Given the description of an element on the screen output the (x, y) to click on. 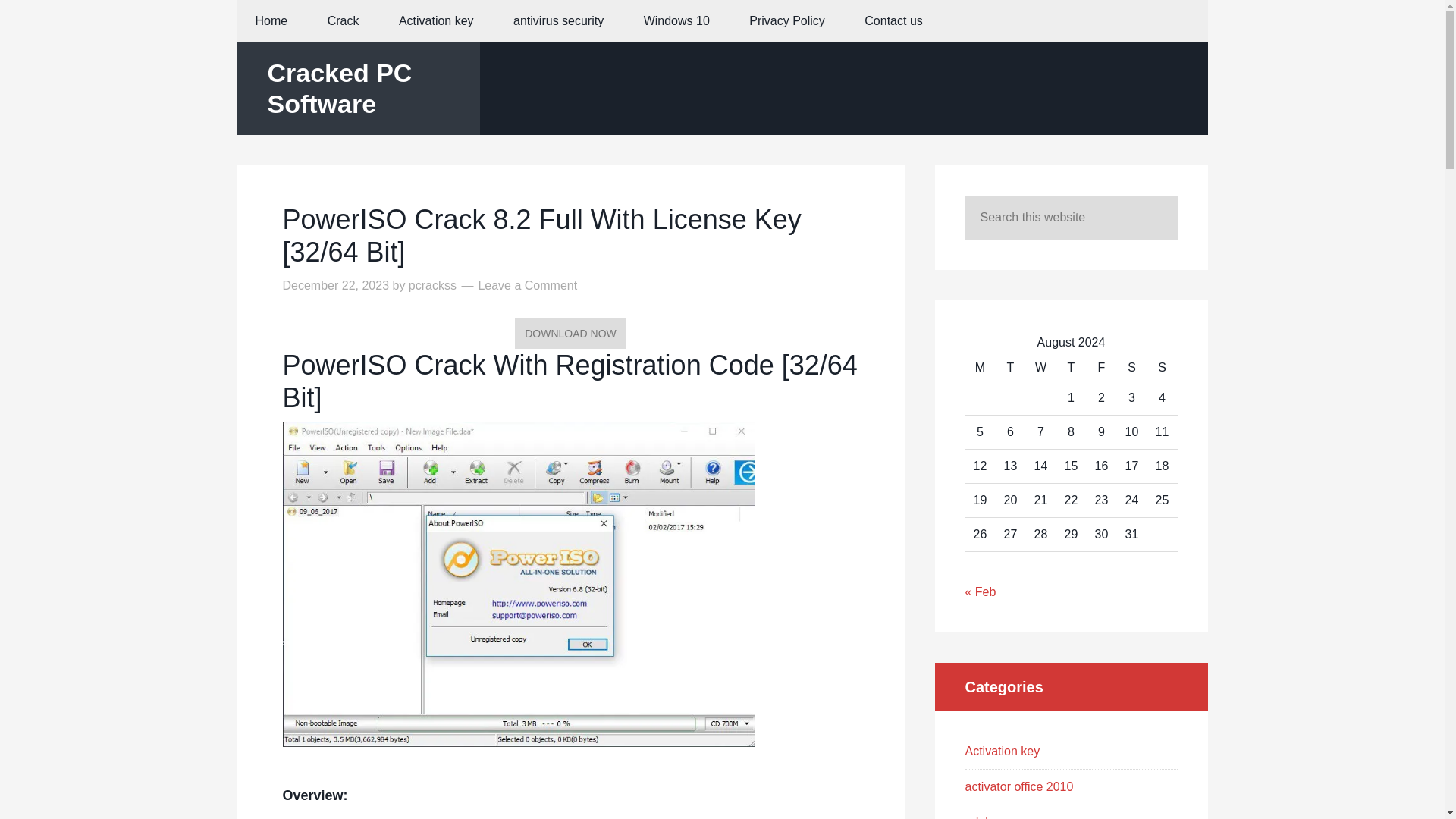
Sunday (1161, 367)
Thursday (1070, 367)
Activation key (1001, 750)
adobe (980, 817)
Friday (1101, 367)
DOWNLOAD NOW (570, 333)
Windows 10 (677, 21)
Home (270, 21)
Wednesday (1040, 367)
pcrackss (433, 285)
Leave a Comment (526, 285)
Crack (342, 21)
